Given the description of an element on the screen output the (x, y) to click on. 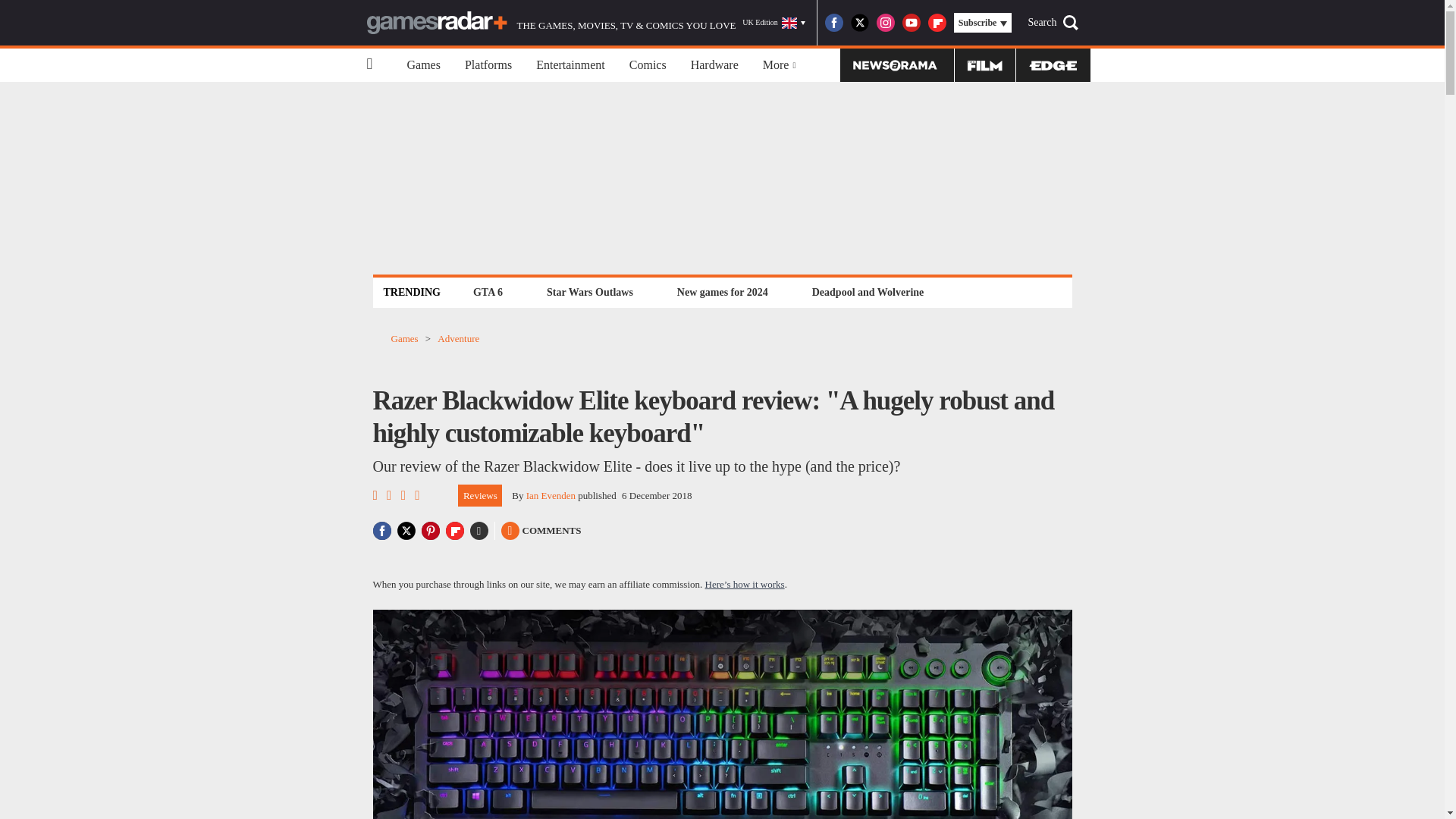
Platforms (488, 64)
Deadpool and Wolverine (868, 292)
Games (422, 64)
Star Wars Outlaws (590, 292)
GTA 6 (487, 292)
UK Edition (773, 22)
Entertainment (570, 64)
Comics (647, 64)
Hardware (714, 64)
New games for 2024 (722, 292)
